Given the description of an element on the screen output the (x, y) to click on. 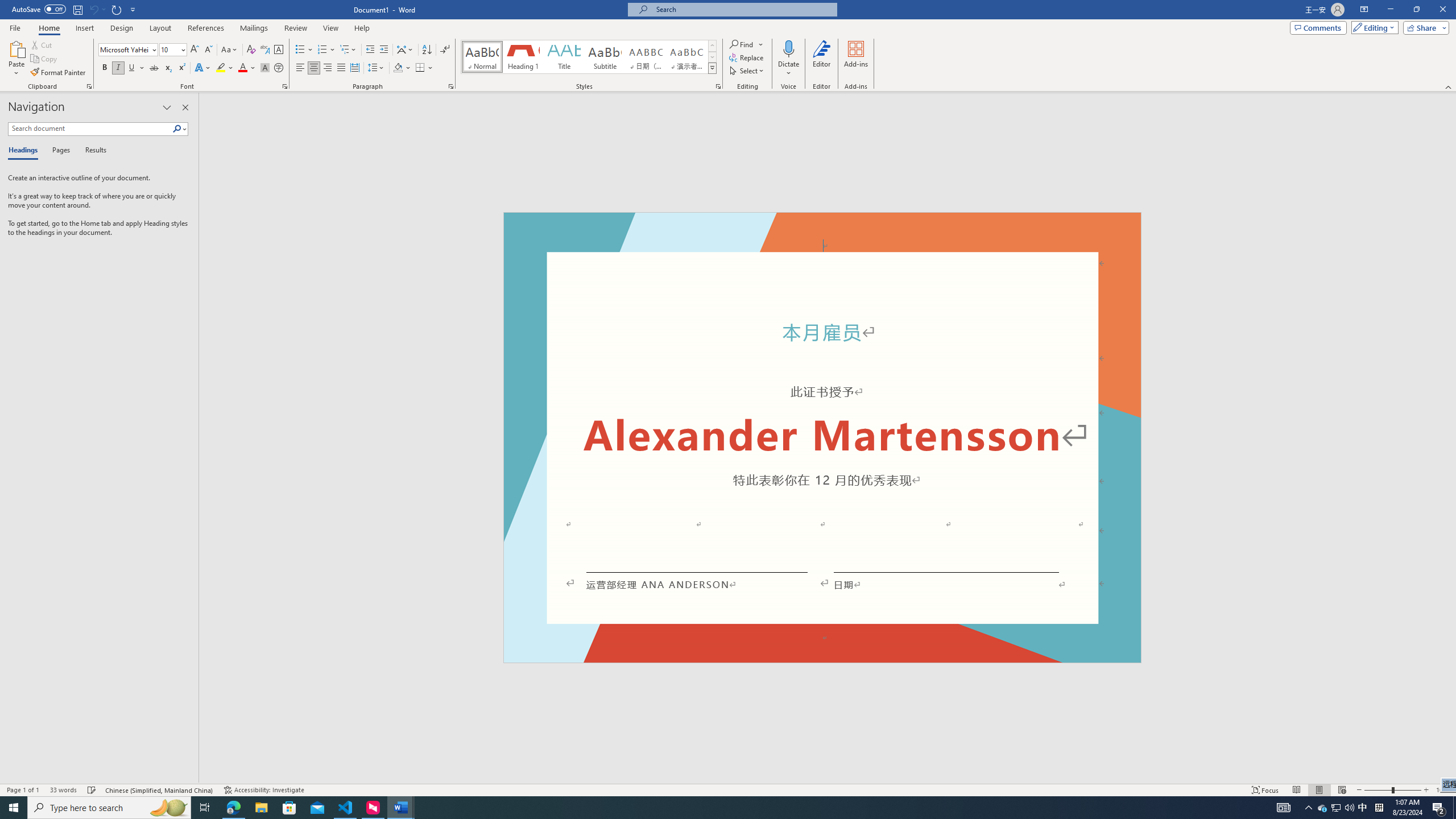
Page 1 content (822, 445)
